Given the description of an element on the screen output the (x, y) to click on. 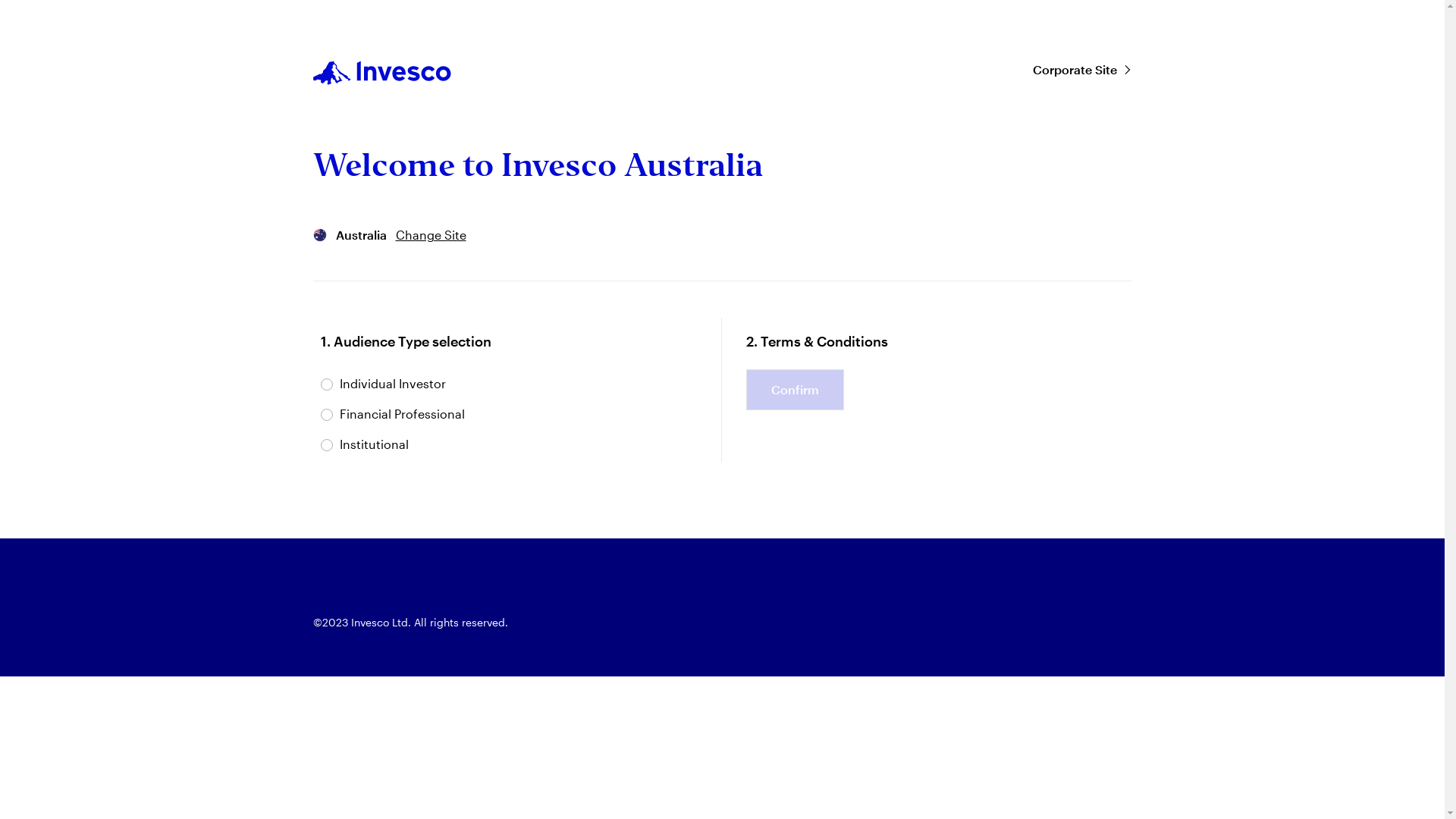
Change Site Element type: text (430, 234)
Corporate Site Element type: text (1082, 69)
Confirm Element type: text (795, 389)
